Given the description of an element on the screen output the (x, y) to click on. 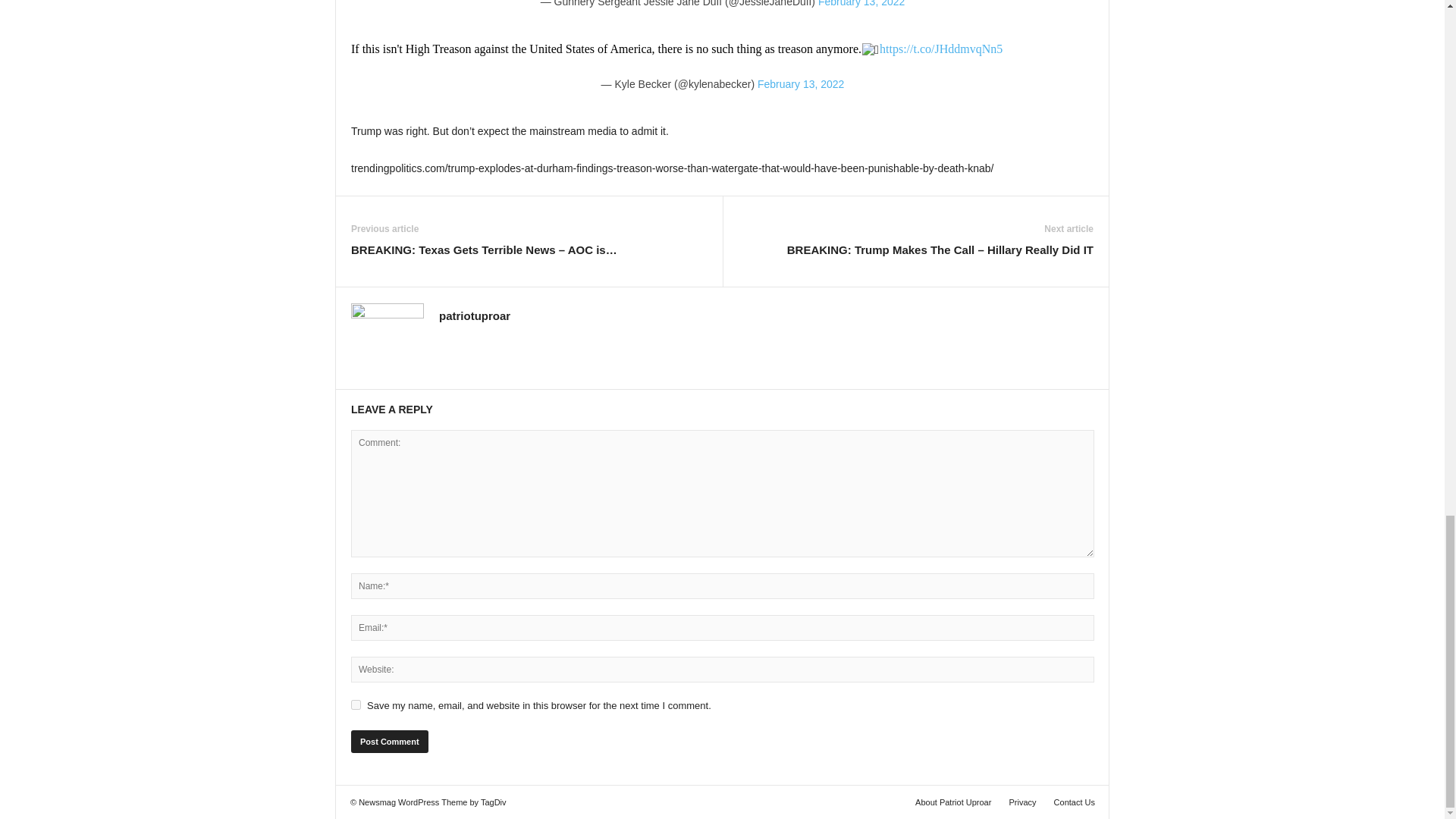
Post Comment (389, 741)
Post Comment (389, 741)
About Patriot Uproar (952, 801)
patriotuproar (475, 315)
February 13, 2022 (861, 3)
yes (355, 705)
February 13, 2022 (800, 83)
